Given the description of an element on the screen output the (x, y) to click on. 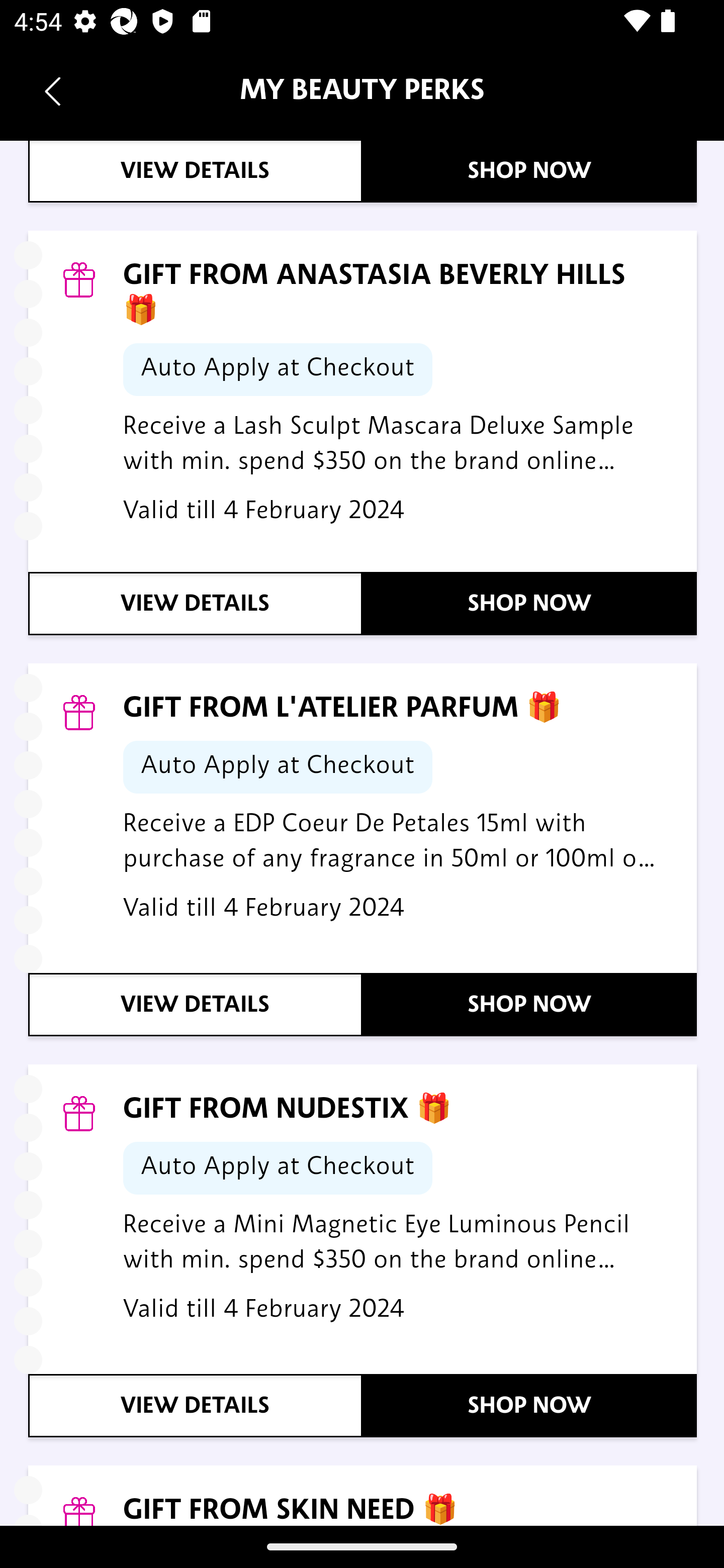
VIEW DETAILS (196, 171)
SHOP NOW (530, 171)
VIEW DETAILS (196, 604)
SHOP NOW (530, 604)
VIEW DETAILS (196, 1005)
SHOP NOW (530, 1005)
VIEW DETAILS (196, 1406)
SHOP NOW (530, 1406)
